Given the description of an element on the screen output the (x, y) to click on. 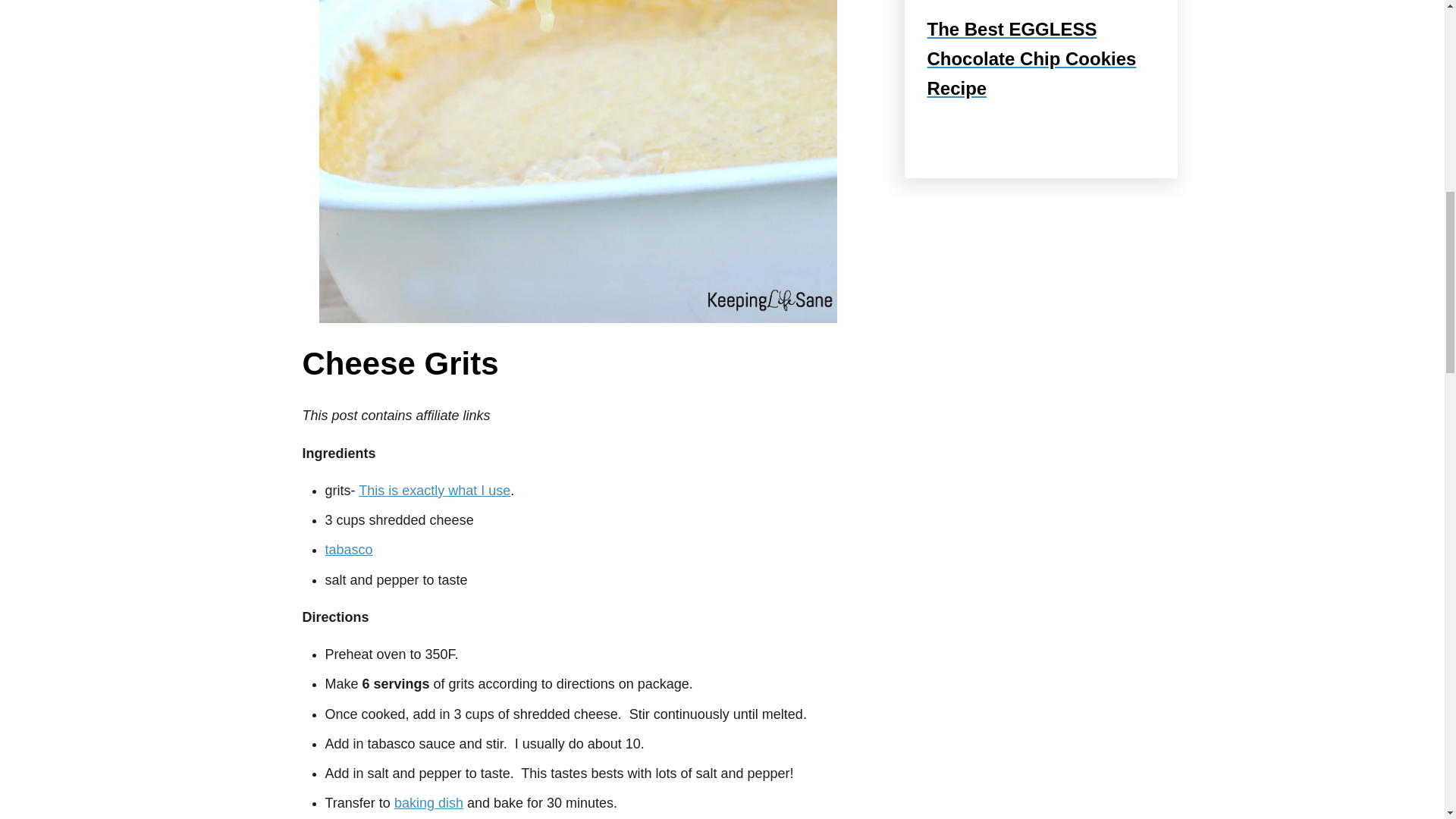
tabasco (348, 549)
baking dish (428, 802)
This is exactly what I use (434, 490)
